Given the description of an element on the screen output the (x, y) to click on. 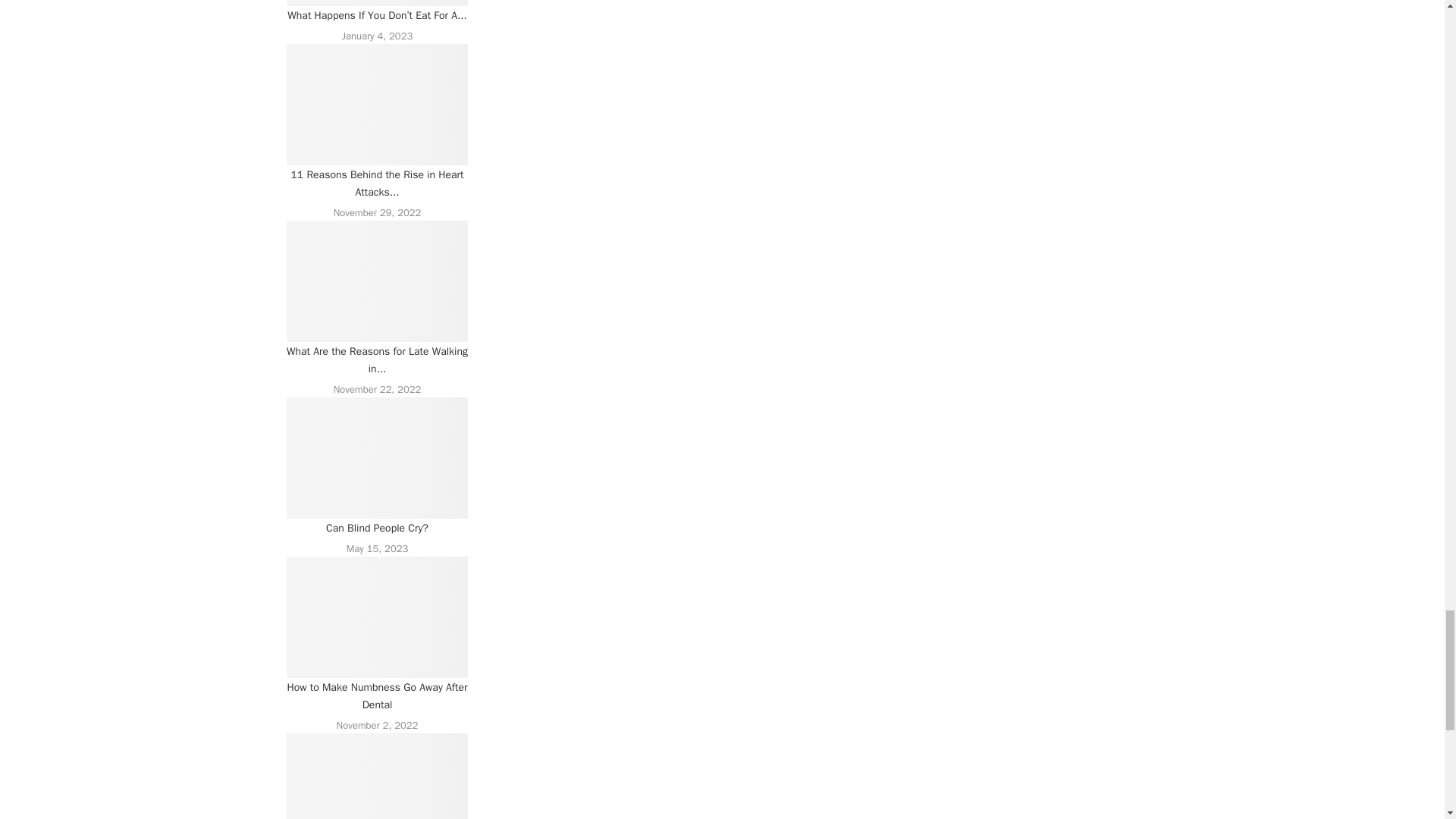
How To Avoid Dry Socket After Tooth Extraction (377, 776)
How to Make Numbness Go Away After Dental (377, 617)
Can Blind People Cry? (377, 457)
What Are the Reasons for Late Walking in Babies (377, 281)
